Given the description of an element on the screen output the (x, y) to click on. 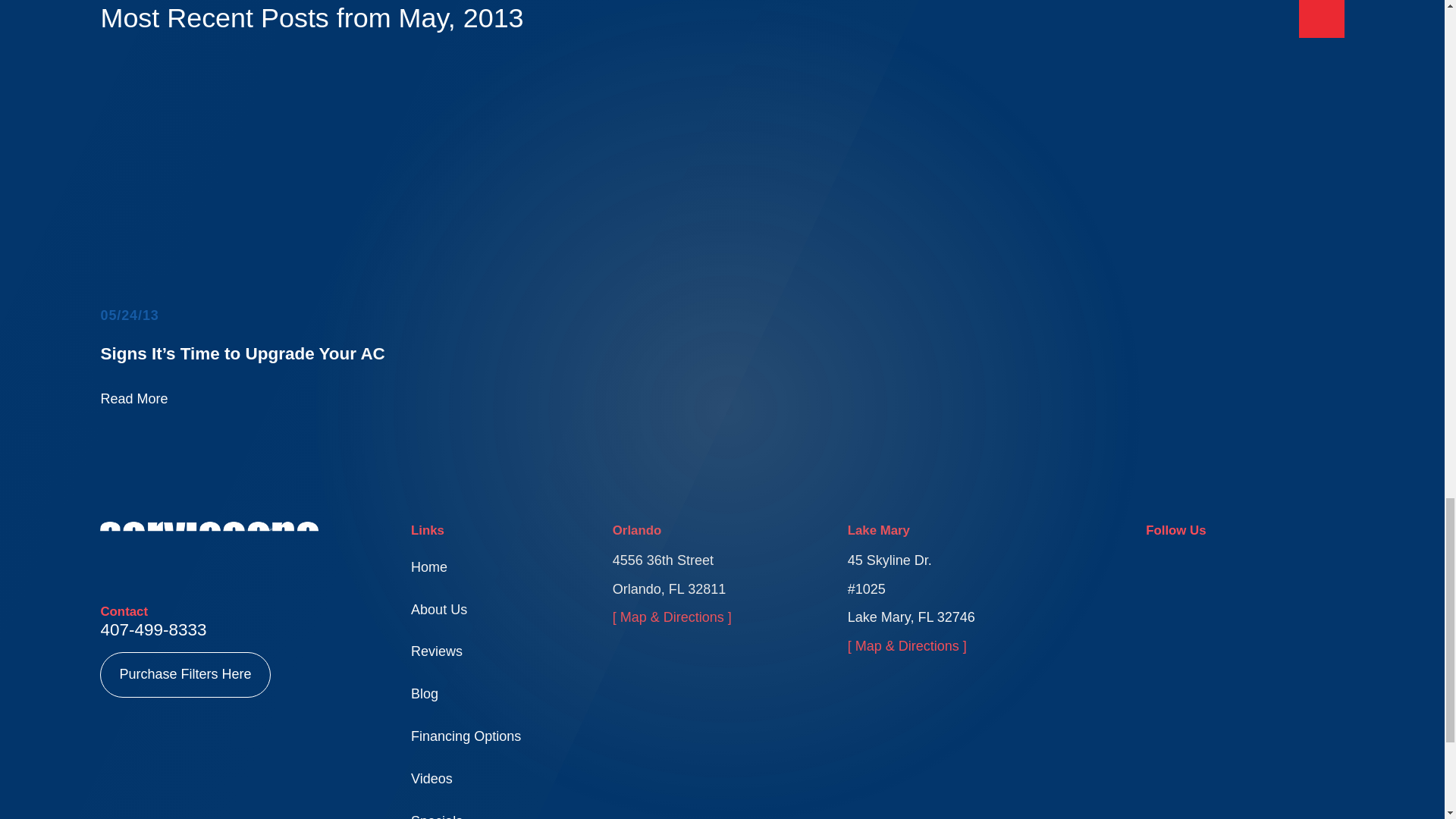
Home (209, 544)
Blog Menu (1320, 18)
